Given the description of an element on the screen output the (x, y) to click on. 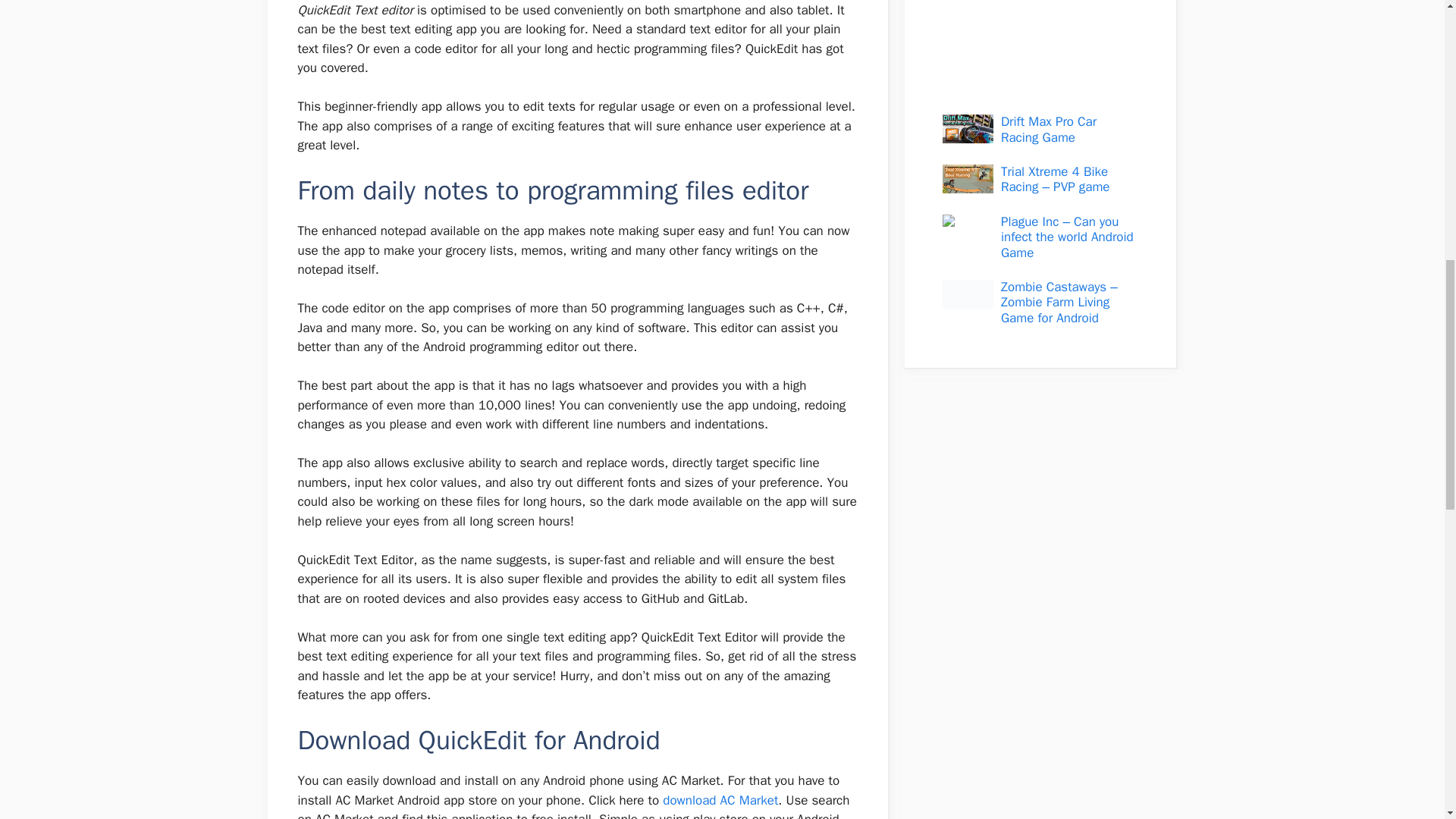
Drift Max Pro Car Racing Game (1048, 128)
Advertisement (1031, 45)
download AC Market (719, 800)
